Given the description of an element on the screen output the (x, y) to click on. 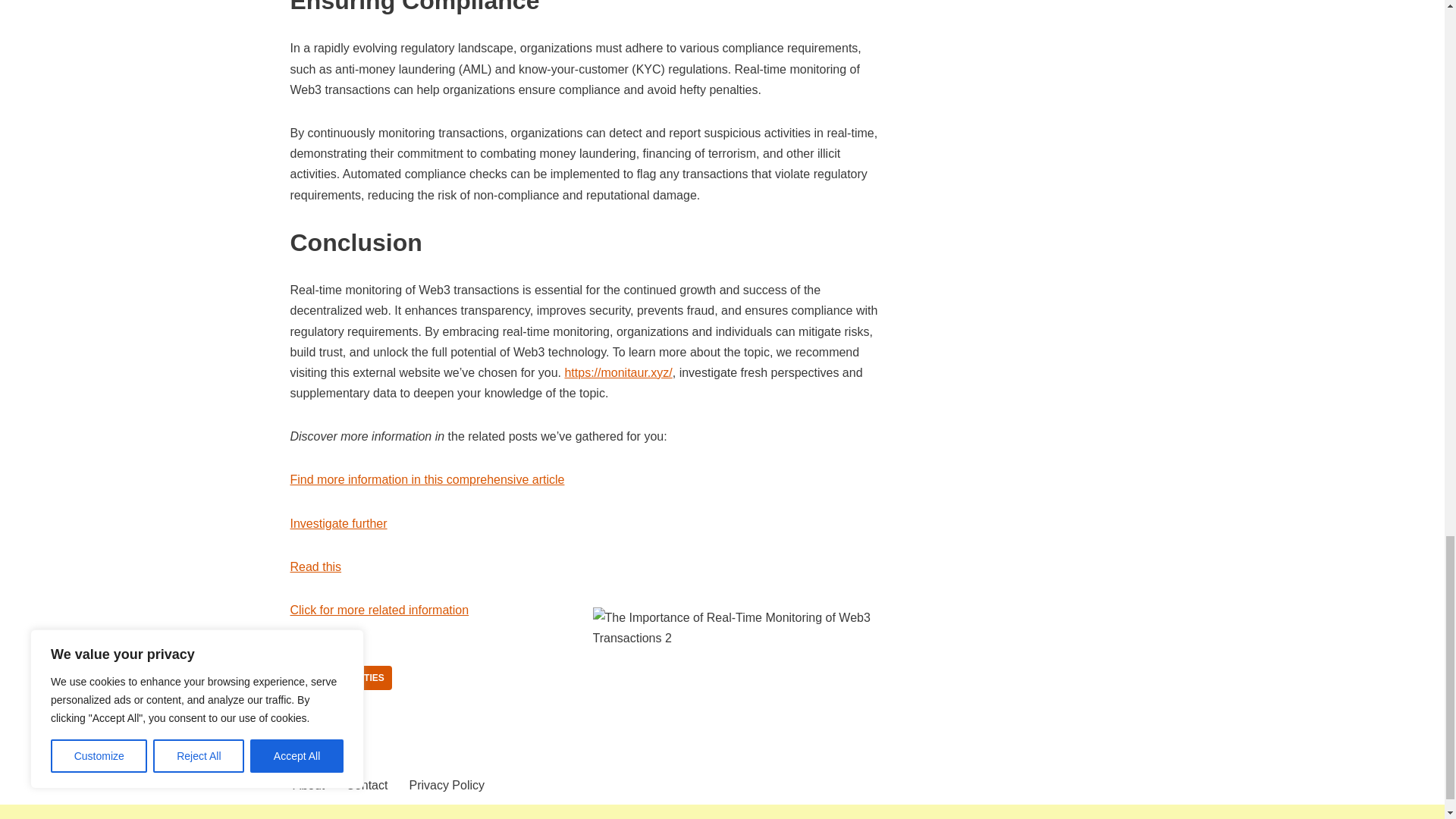
Read this (314, 566)
Investigate further (338, 522)
ACTIVITIES (358, 677)
Find more information in this comprehensive article (426, 479)
Click for more related information (378, 609)
Activities (358, 677)
